Given the description of an element on the screen output the (x, y) to click on. 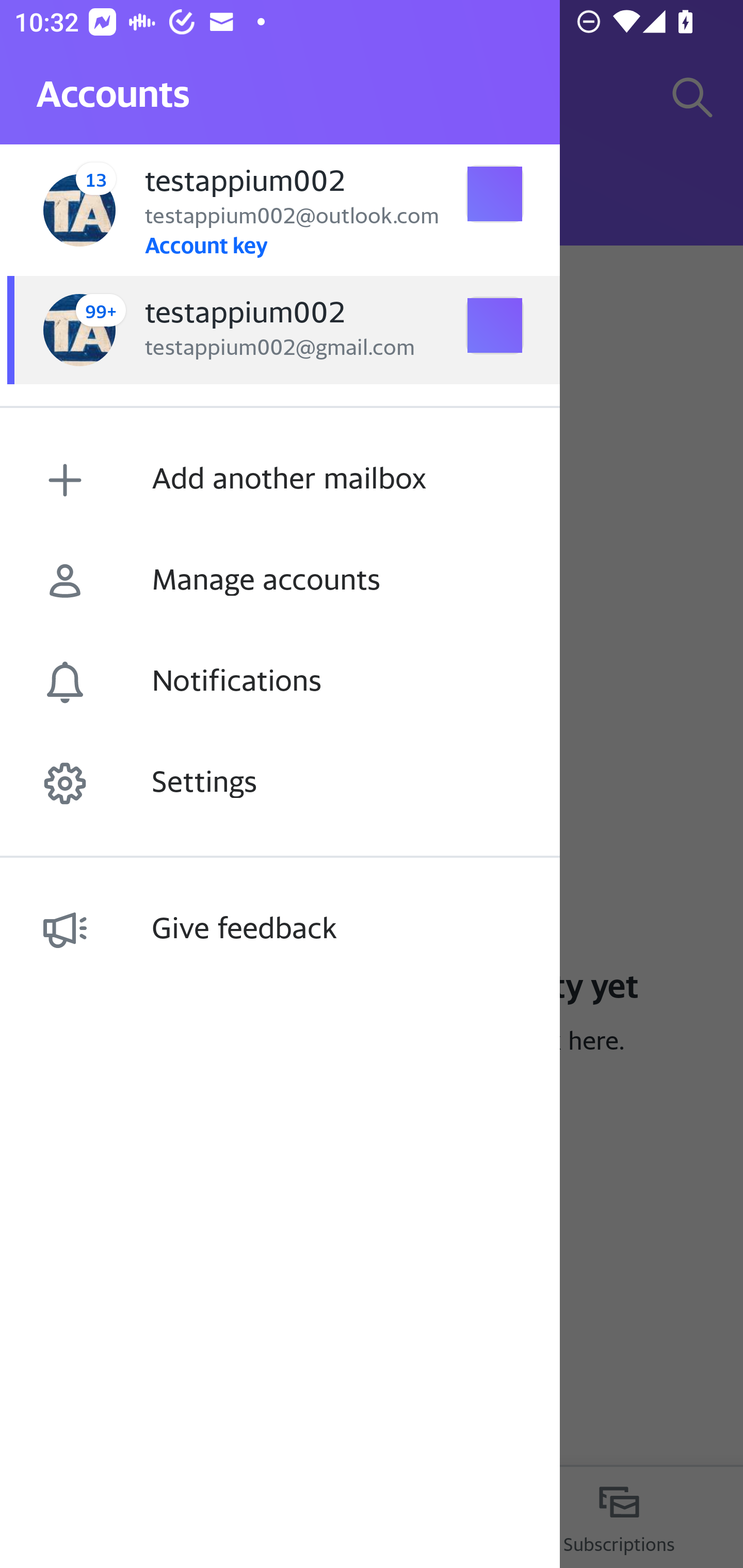
Account key (205, 244)
Add another mailbox (279, 479)
Manage accounts (279, 580)
Notifications (279, 681)
Settings (279, 783)
Give feedback (279, 929)
